Given the description of an element on the screen output the (x, y) to click on. 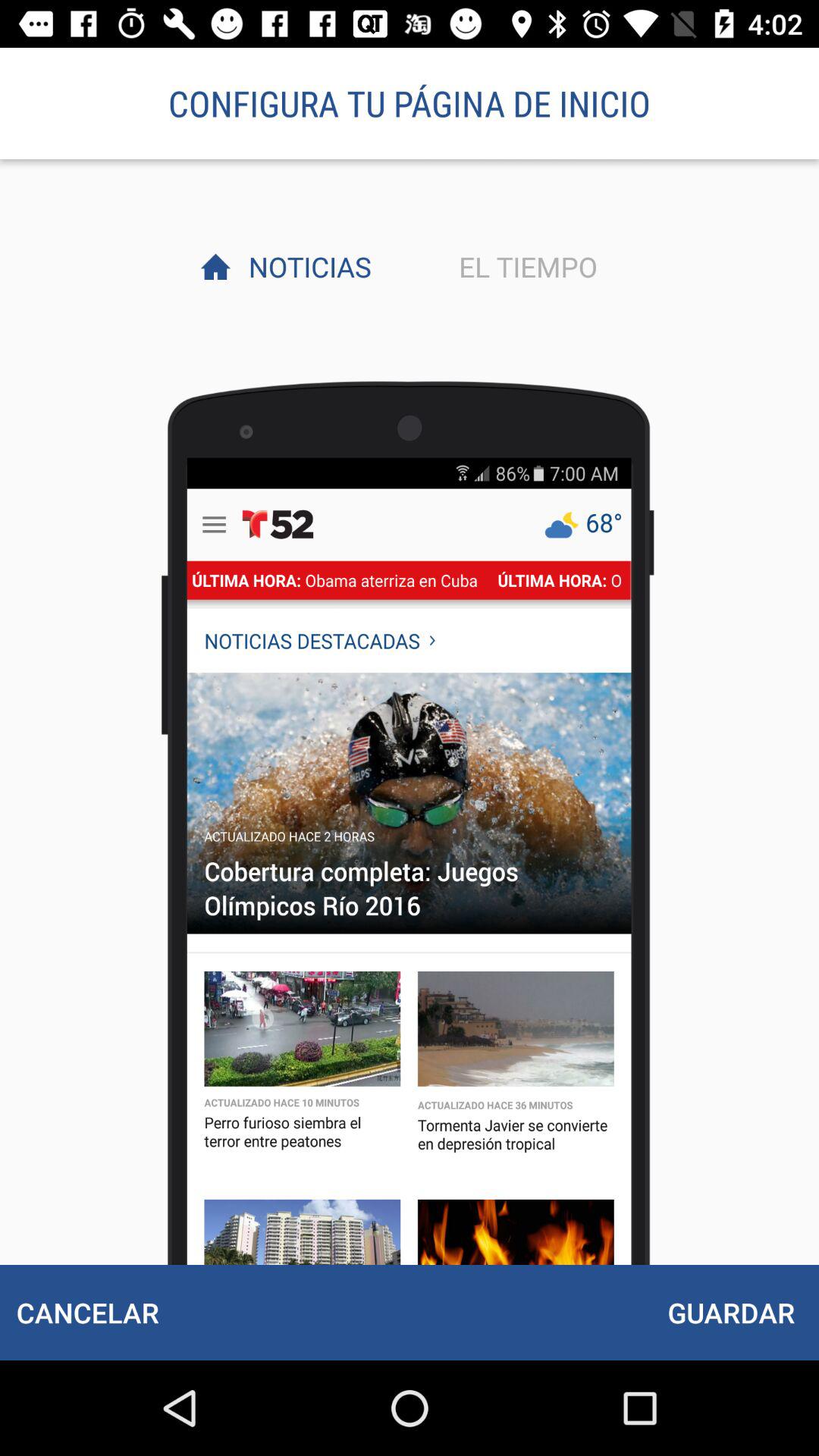
swipe until the guardar item (731, 1312)
